Given the description of an element on the screen output the (x, y) to click on. 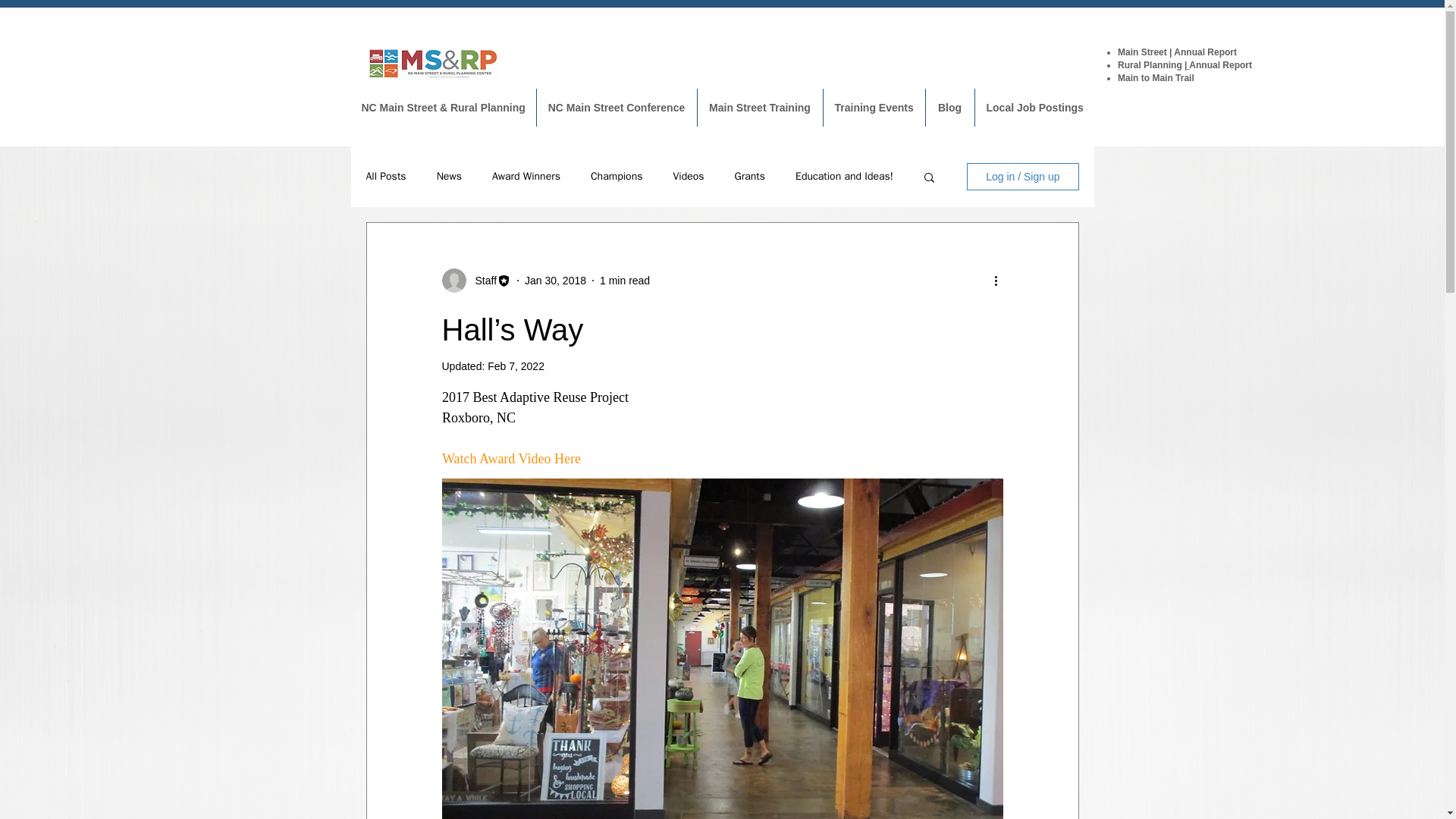
Local Job Postings (1034, 107)
Education and Ideas! (843, 176)
Staff (480, 280)
NC Main Street Conference (617, 107)
Jan 30, 2018 (555, 280)
All Posts (385, 176)
Blog (949, 107)
Main to Main Trail (1155, 77)
Training Events (874, 107)
Annual Report (1204, 51)
Main Street Training (759, 107)
News (448, 176)
Videos (687, 176)
Champions (617, 176)
Award Winners (526, 176)
